Given the description of an element on the screen output the (x, y) to click on. 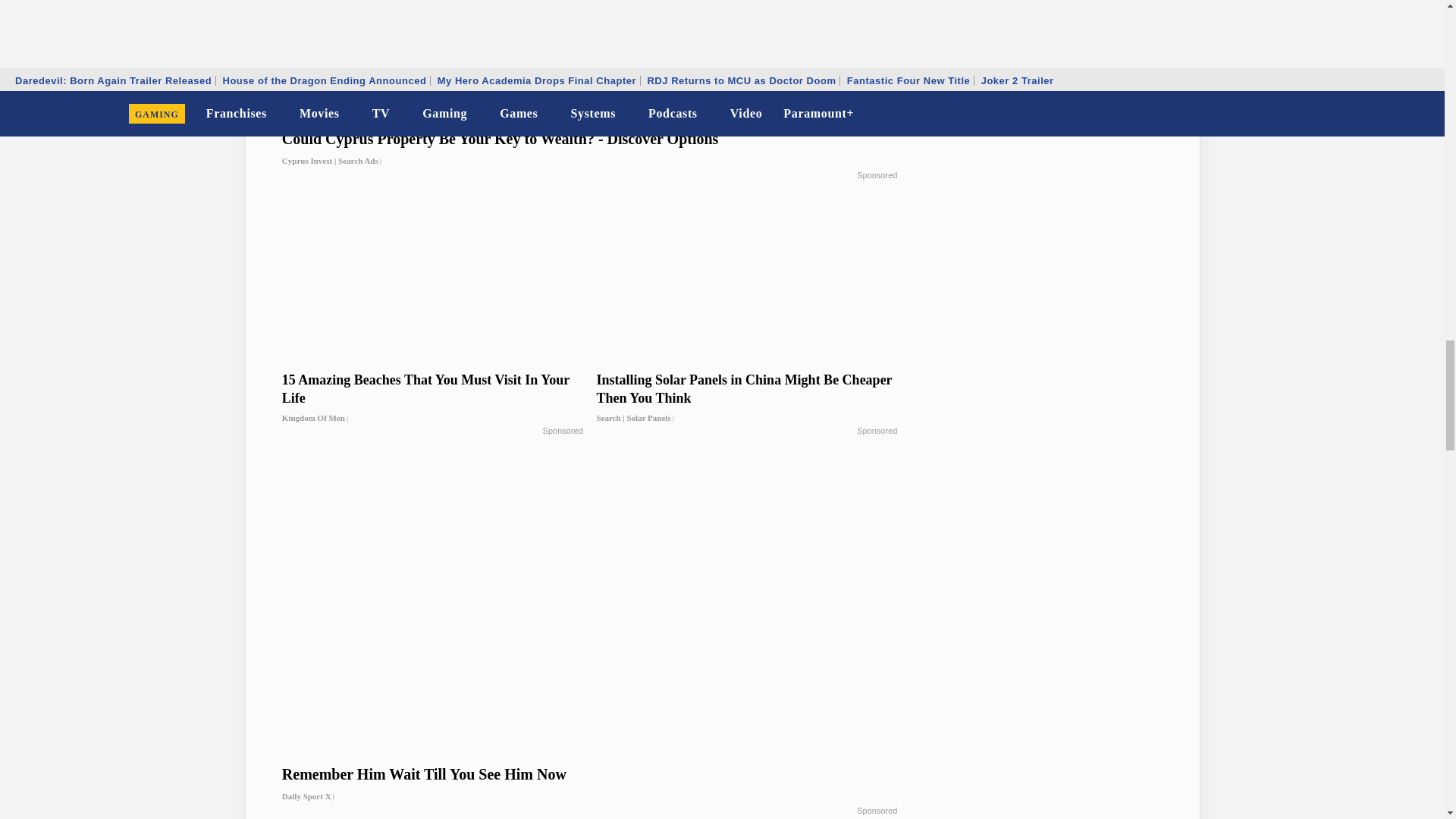
15 Amazing Beaches That You Must Visit In Your Life (432, 398)
